Given the description of an element on the screen output the (x, y) to click on. 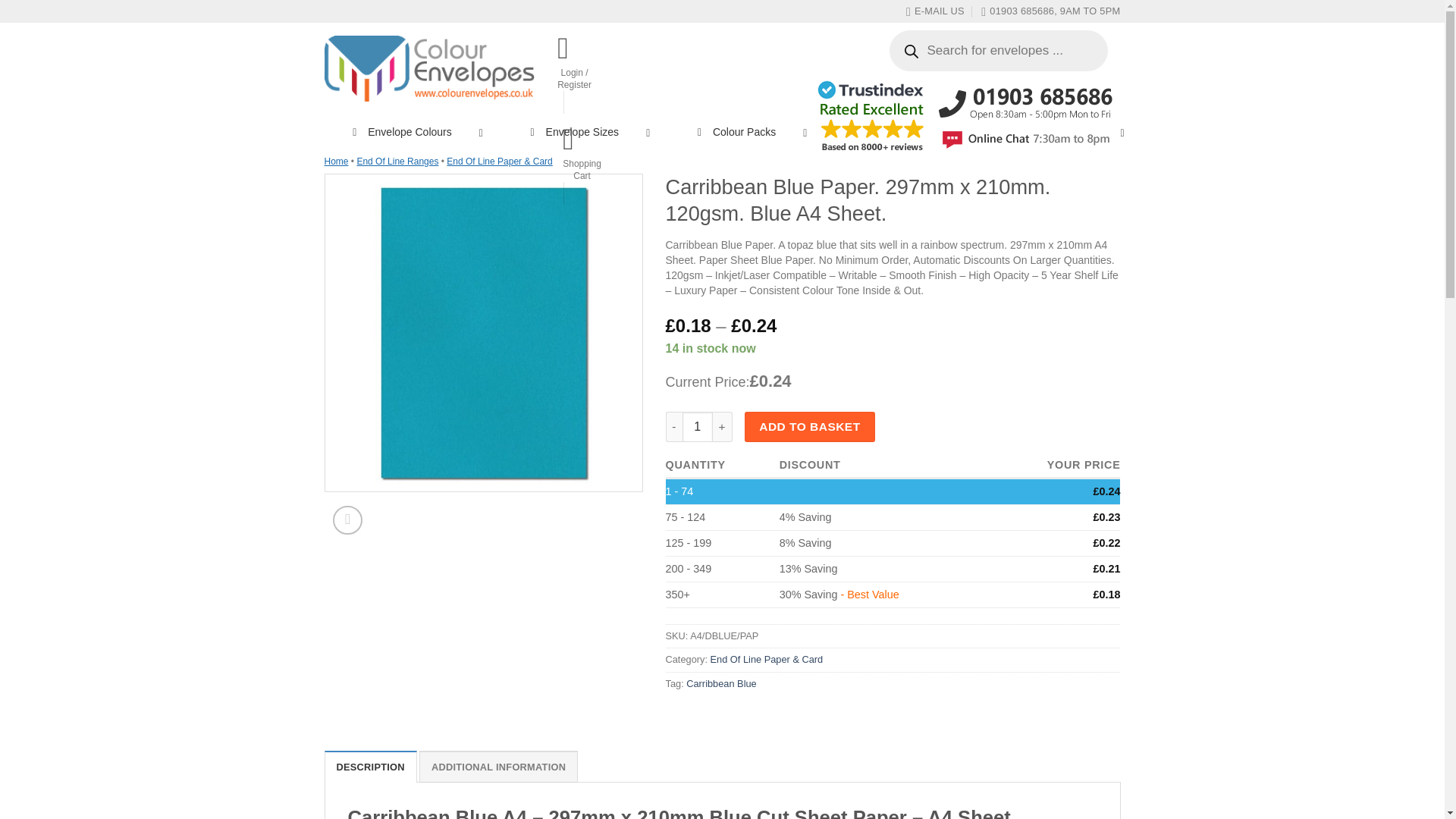
1 (697, 426)
Envelope Colours (401, 131)
01903 685686, 9AM TO 5PM (1050, 11)
Zoom (347, 519)
Colour Envelopes (429, 68)
Envelope Sizes (574, 131)
E-MAIL US (934, 11)
01903 685686, 9am to 5pm (1050, 11)
